Given the description of an element on the screen output the (x, y) to click on. 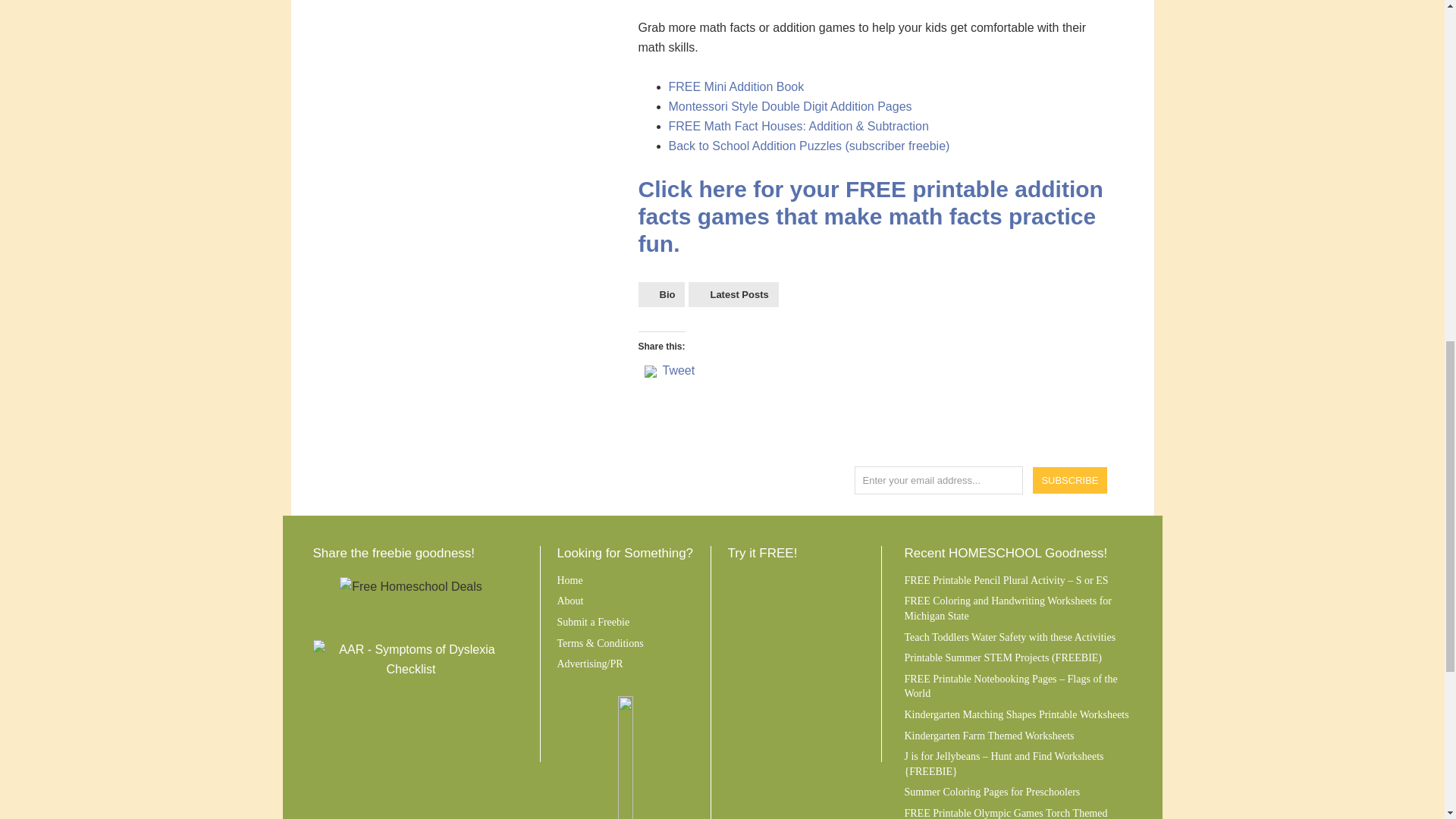
Free Homeschool Deals (410, 587)
Subscribe (1070, 480)
